Given the description of an element on the screen output the (x, y) to click on. 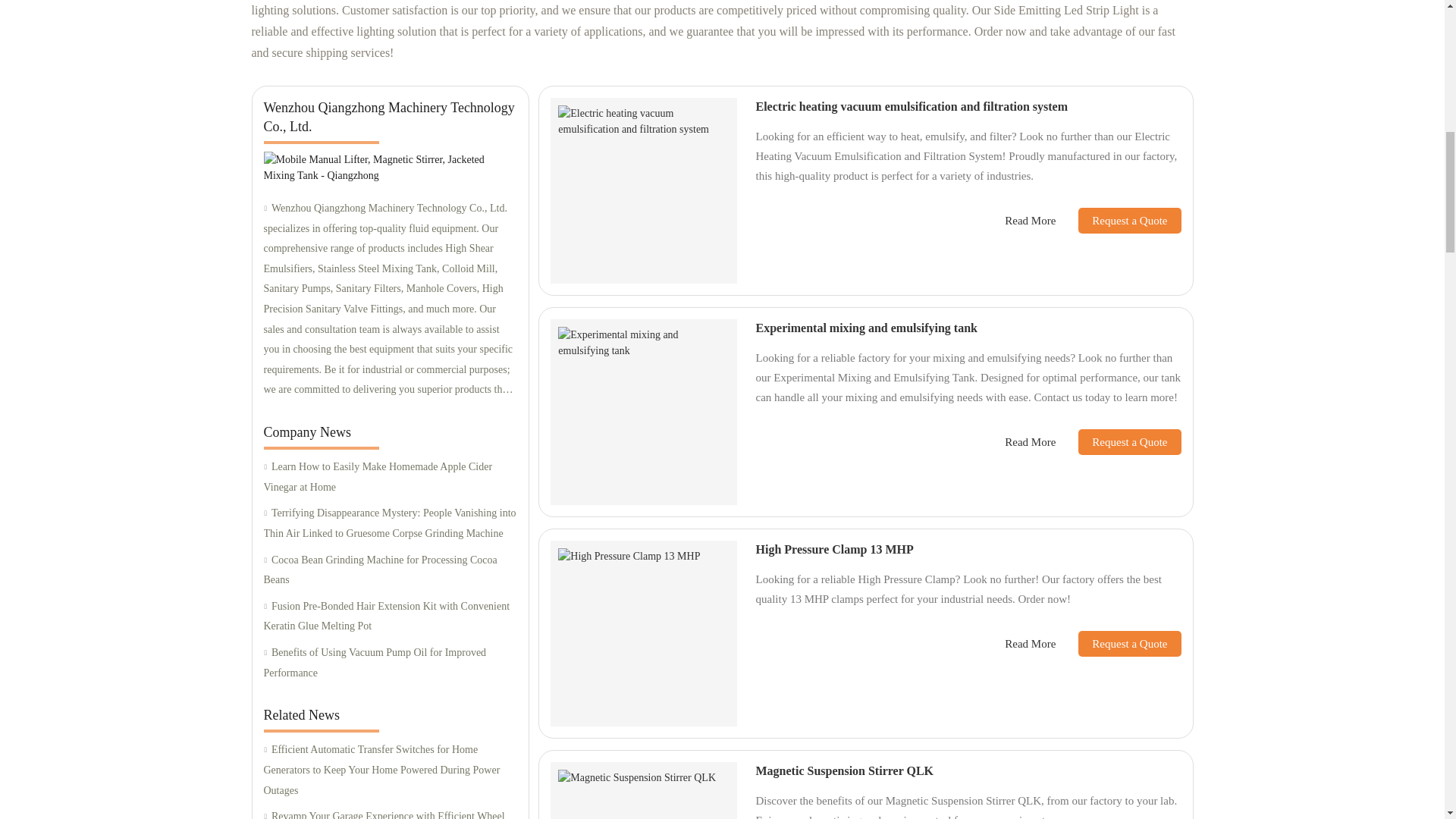
Electric heating vacuum emulsification and filtration system (911, 106)
Request a Quote (1117, 220)
Benefits of Using Vacuum Pump Oil for Improved Performance (389, 662)
Cocoa Bean Grinding Machine for Processing Cocoa Beans (389, 570)
Read More (1029, 221)
